Given the description of an element on the screen output the (x, y) to click on. 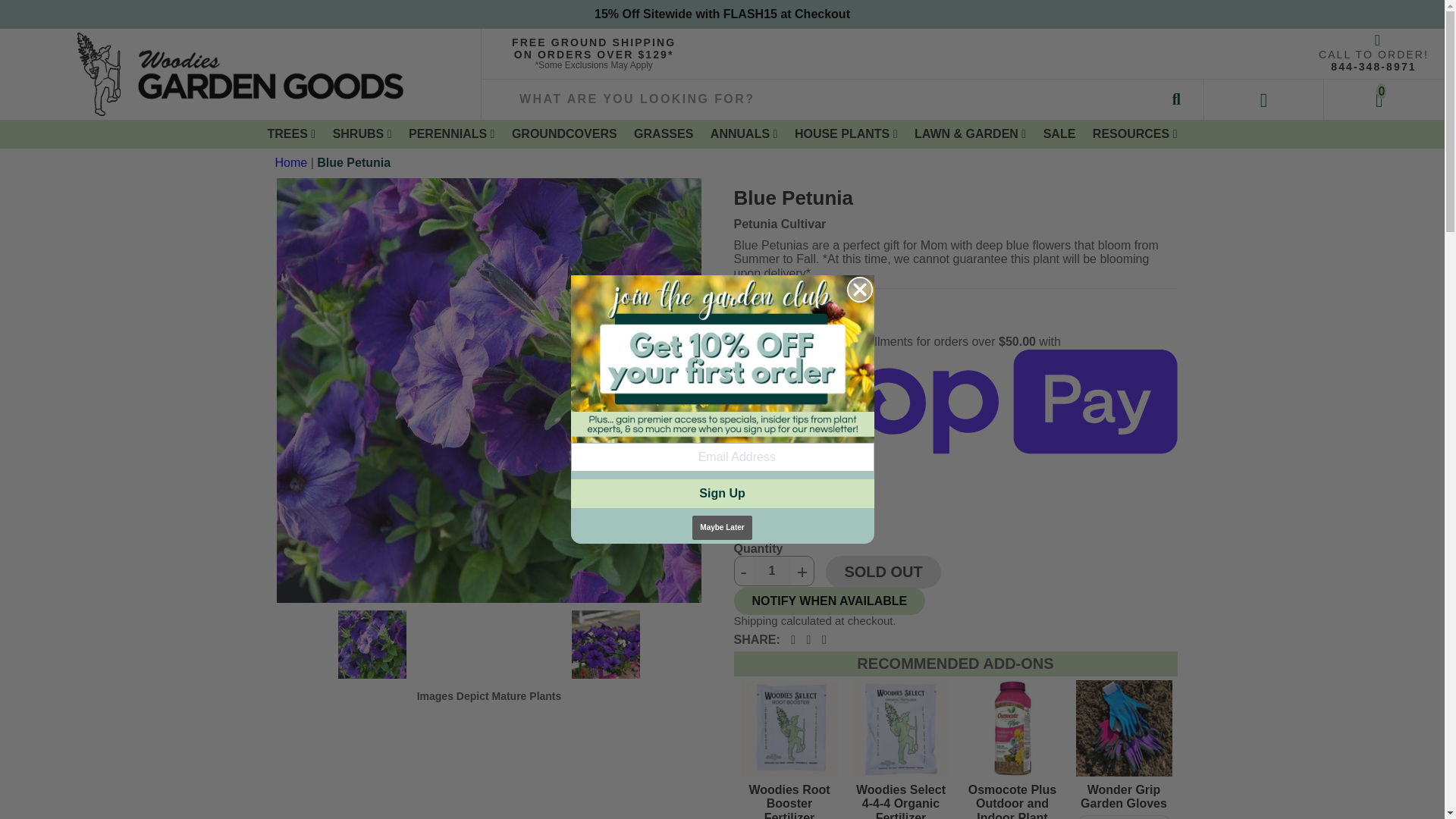
TREES (290, 133)
0 (1383, 99)
Account (1264, 99)
Share on Facebook (792, 640)
Share on Pinterest (824, 640)
1 (771, 570)
Close dialog 2 (858, 289)
Search (1176, 99)
Share on Twitter (808, 640)
844-348-8971 (1373, 66)
